Given the description of an element on the screen output the (x, y) to click on. 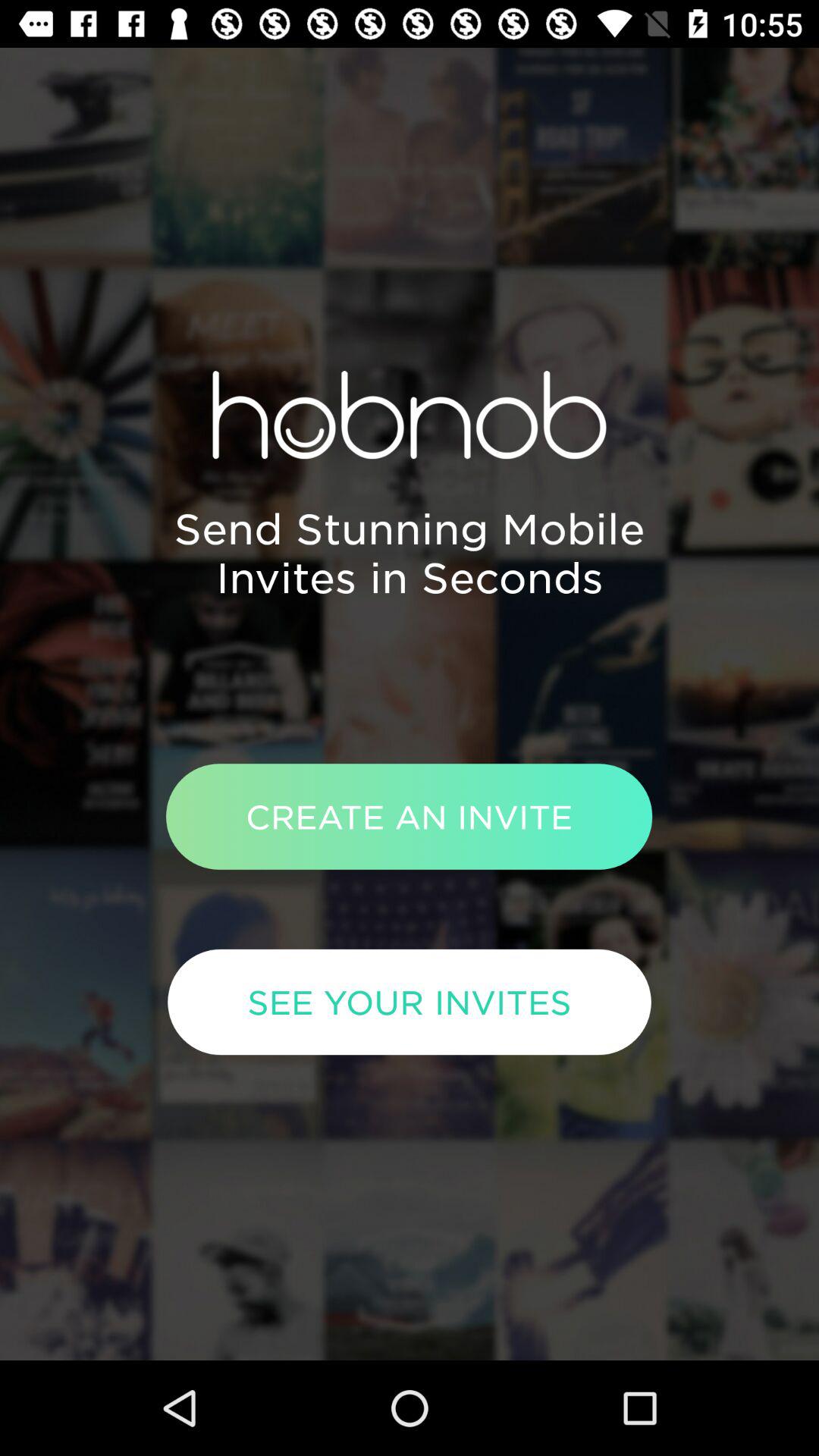
select item above the see your invites icon (409, 816)
